Given the description of an element on the screen output the (x, y) to click on. 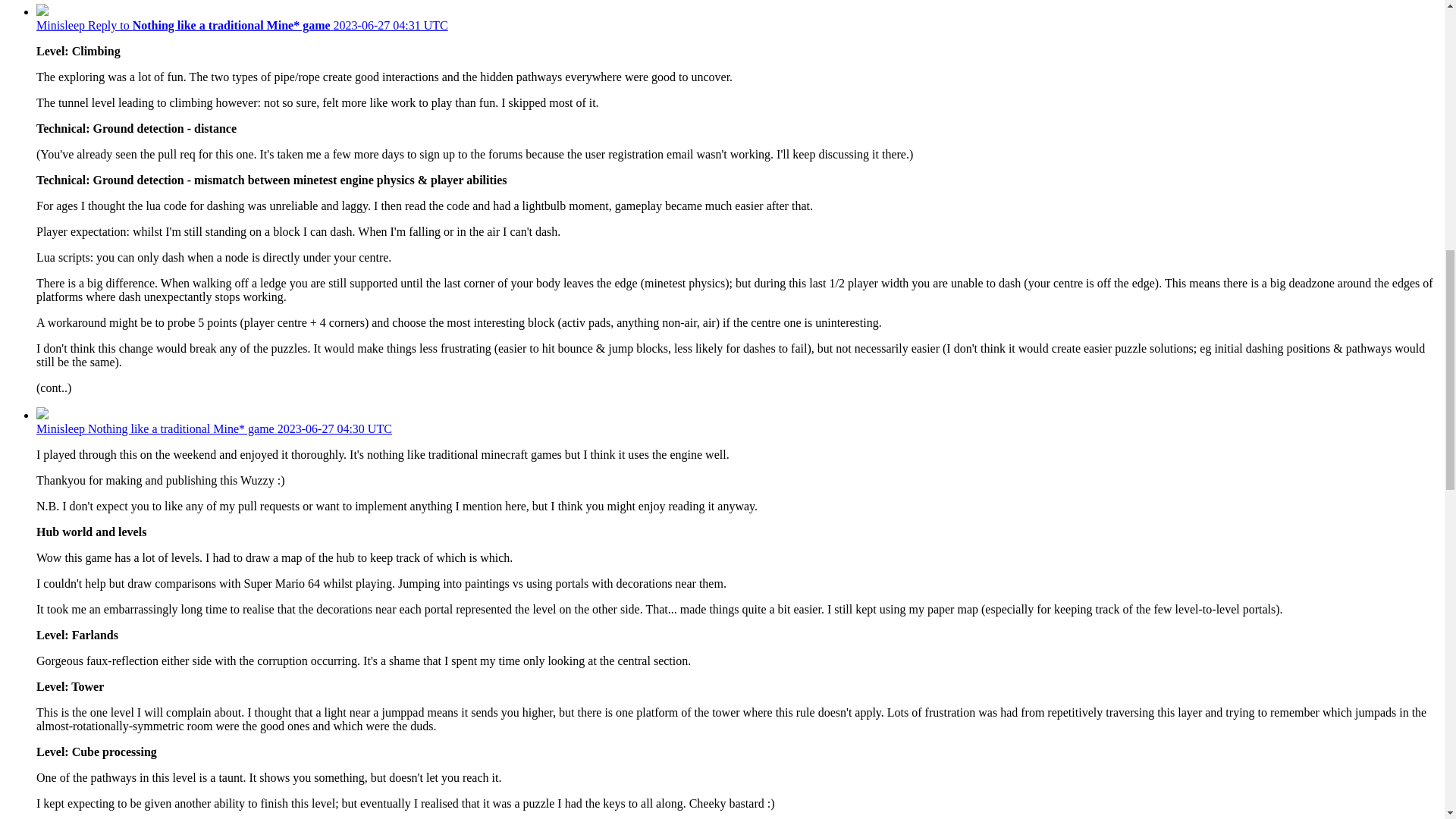
Minisleep (61, 24)
2023-06-27 04:30 UTC (334, 428)
2023-06-27 04:31 UTC (390, 24)
Minisleep (61, 428)
2023-06-27 04:31 UTC (390, 24)
